Given the description of an element on the screen output the (x, y) to click on. 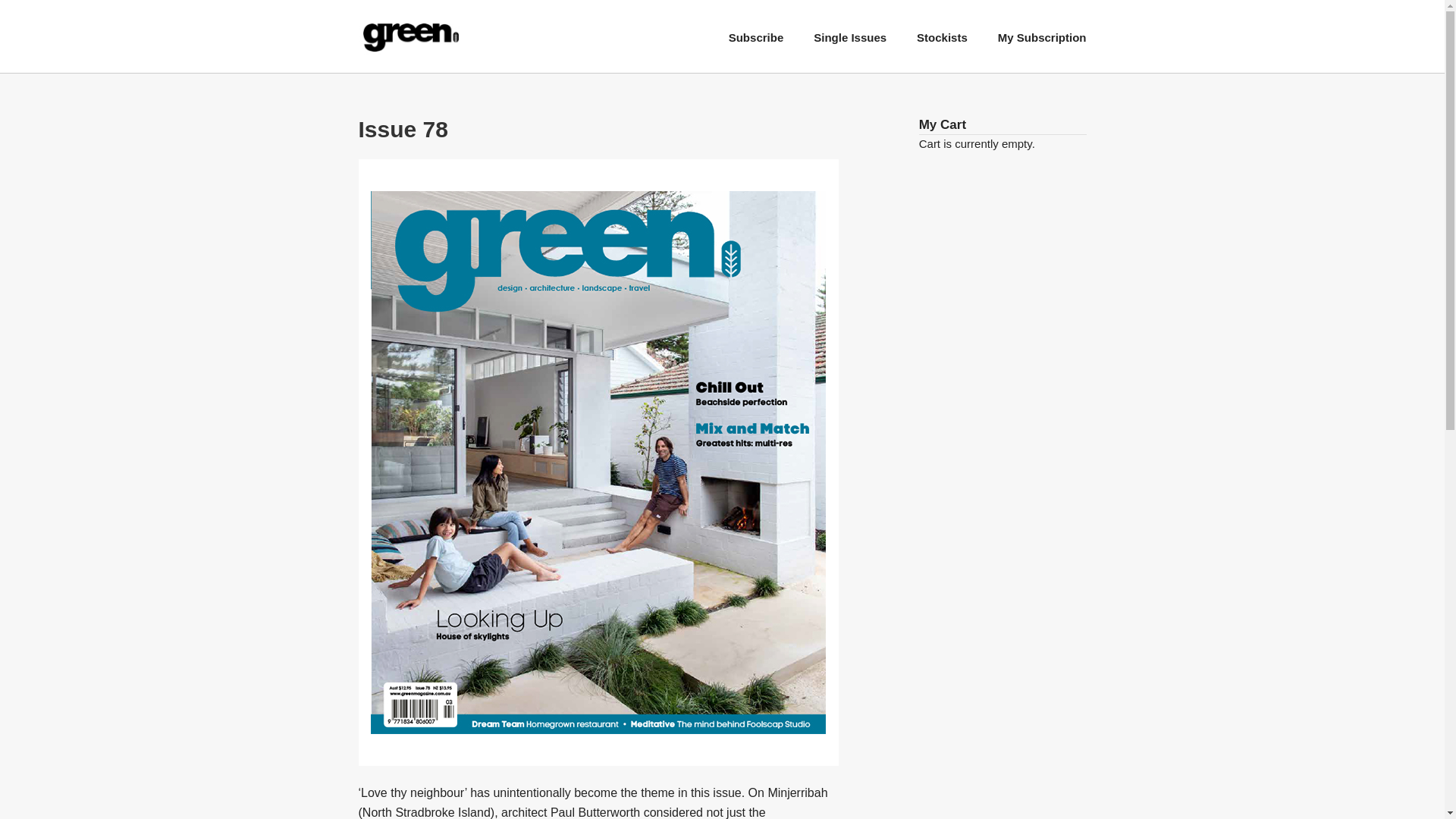
My Subscription Element type: text (1041, 37)
Stockists Element type: text (941, 37)
Subscribe Element type: text (756, 37)
Single Issues Element type: text (849, 37)
